Given the description of an element on the screen output the (x, y) to click on. 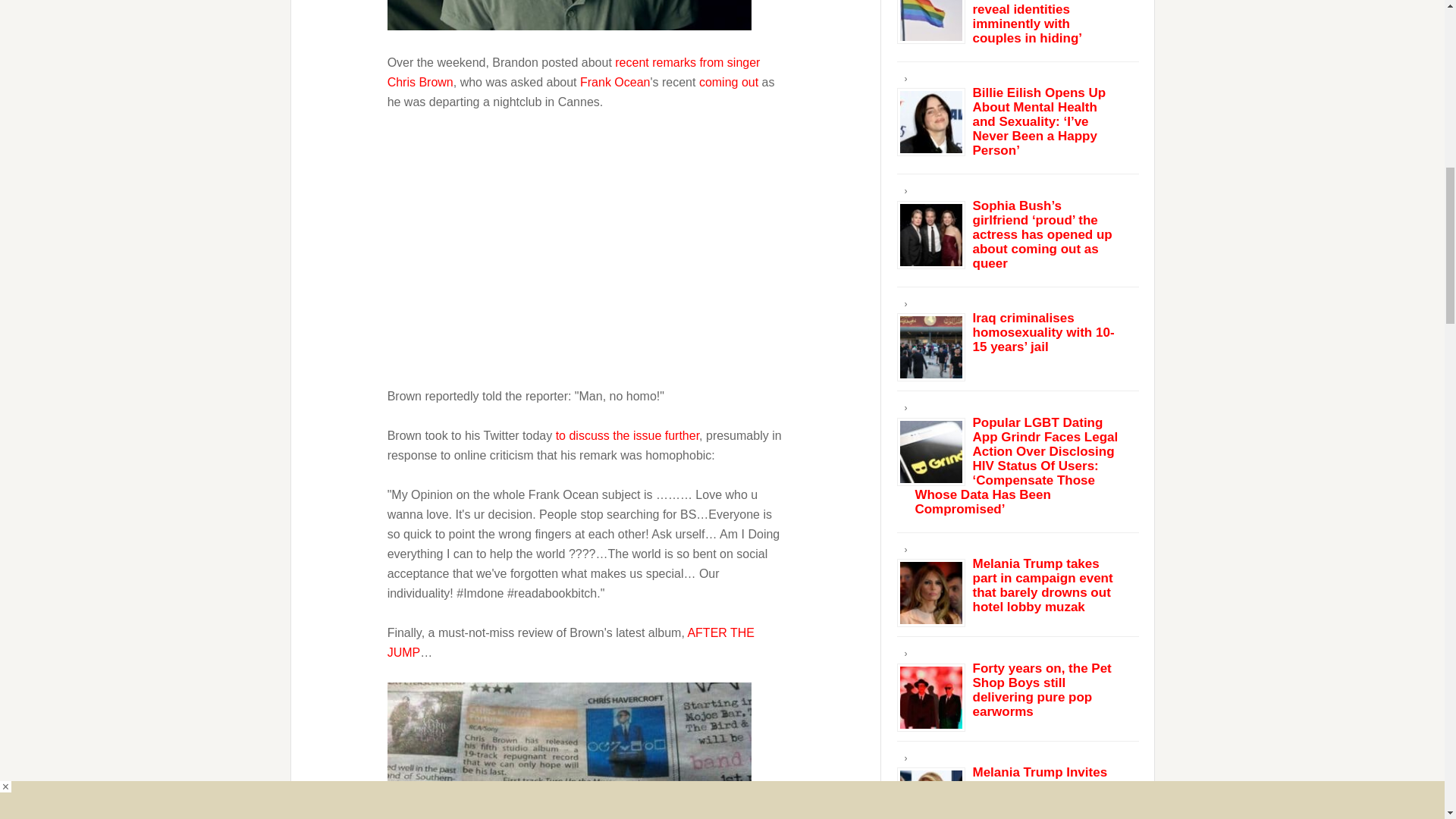
to discuss the issue further (627, 435)
Frank Ocean (614, 82)
Posts tagged with Frank Ocean (614, 82)
AFTER THE JUMP (570, 642)
Havercroft (569, 750)
coming out (728, 82)
Brown (569, 14)
Posts tagged with coming out (728, 82)
recent remarks from singer Chris Brown (573, 72)
